Given the description of an element on the screen output the (x, y) to click on. 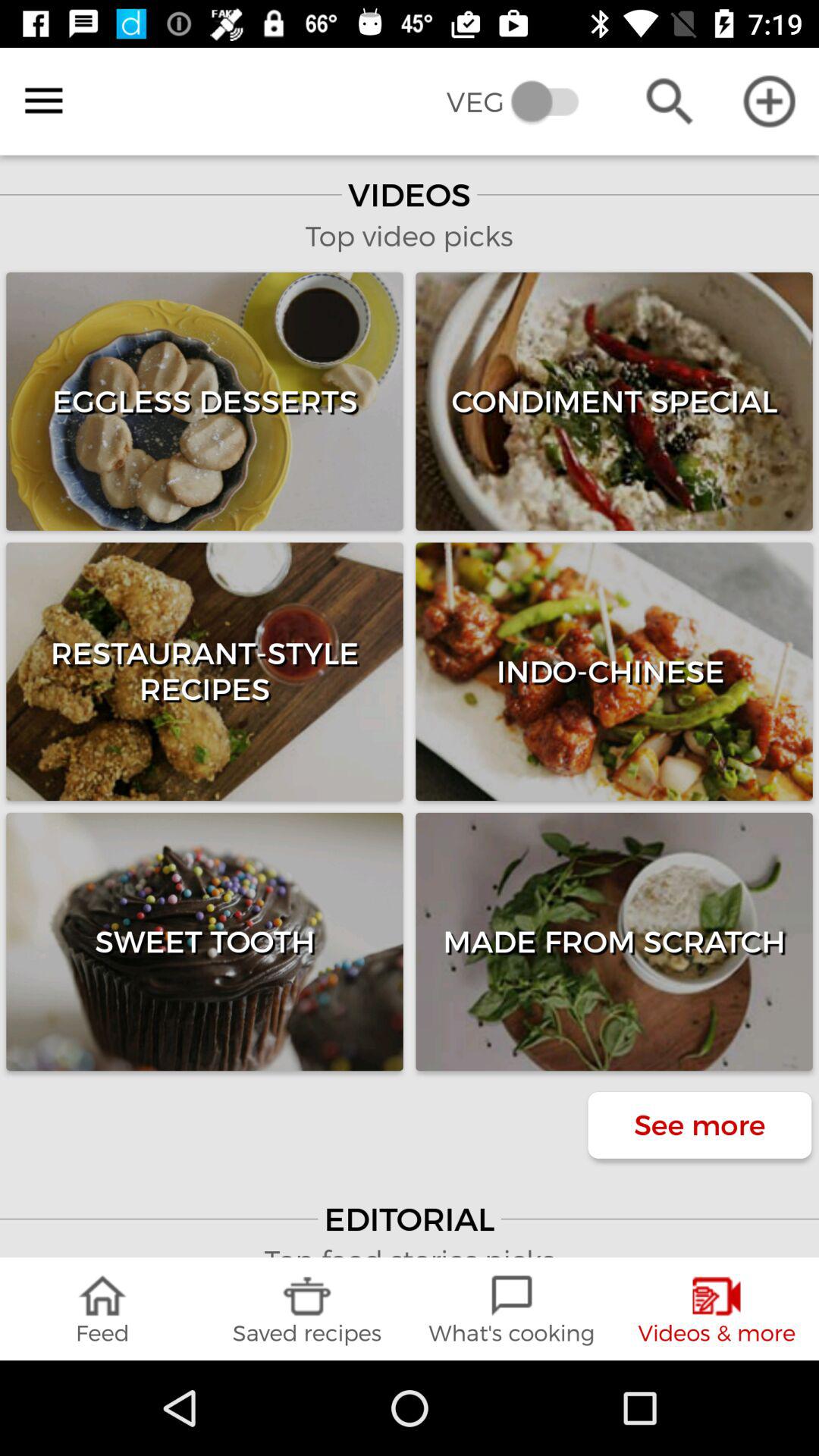
launch item to the right of the veg icon (669, 101)
